Given the description of an element on the screen output the (x, y) to click on. 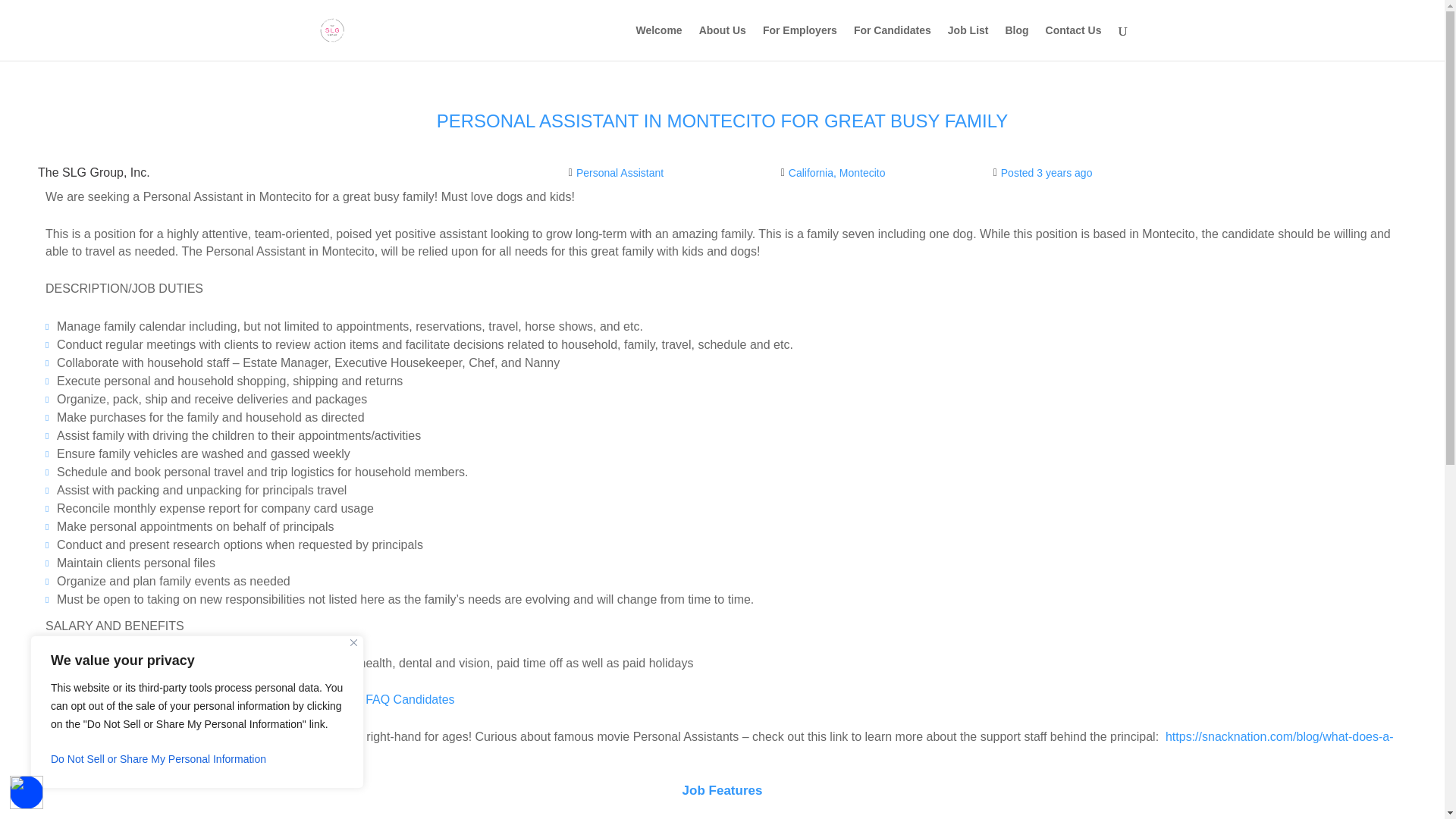
Contact Us (1073, 42)
Job List (967, 42)
The SLG Group, Inc. (93, 172)
FAQ Candidates (409, 698)
Do Not Sell or Share My Personal Information (196, 759)
Accessibility Menu (26, 792)
Welcome (657, 42)
For Employers (799, 42)
For Candidates (892, 42)
About Us (721, 42)
